Given the description of an element on the screen output the (x, y) to click on. 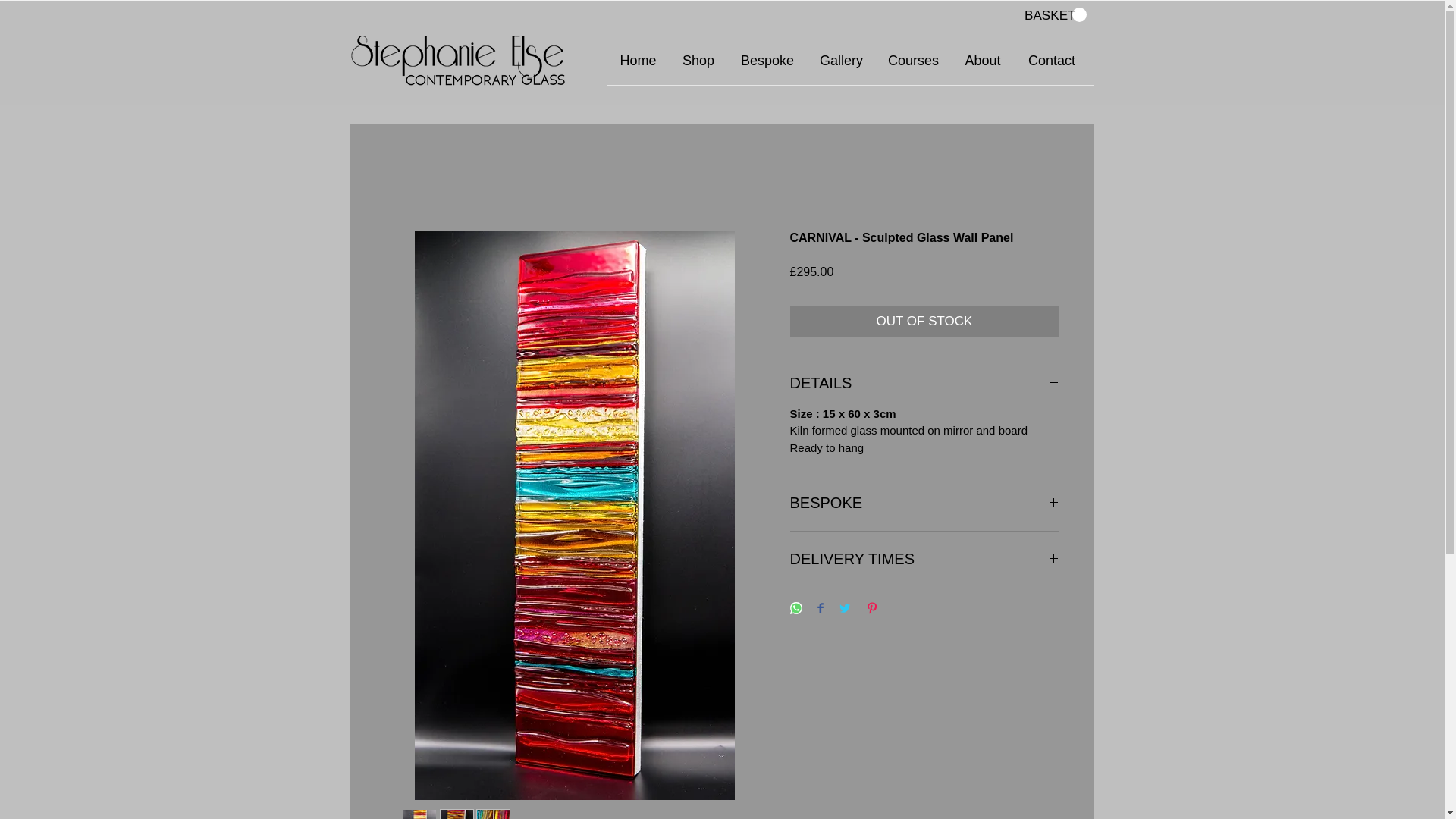
Home (637, 60)
BASKET (1054, 14)
DETAILS (924, 383)
Shop (697, 60)
Courses (912, 60)
Bespoke (768, 60)
Contact (1051, 60)
Gallery (840, 60)
BESPOKE (924, 502)
DELIVERY TIMES (924, 558)
